Given the description of an element on the screen output the (x, y) to click on. 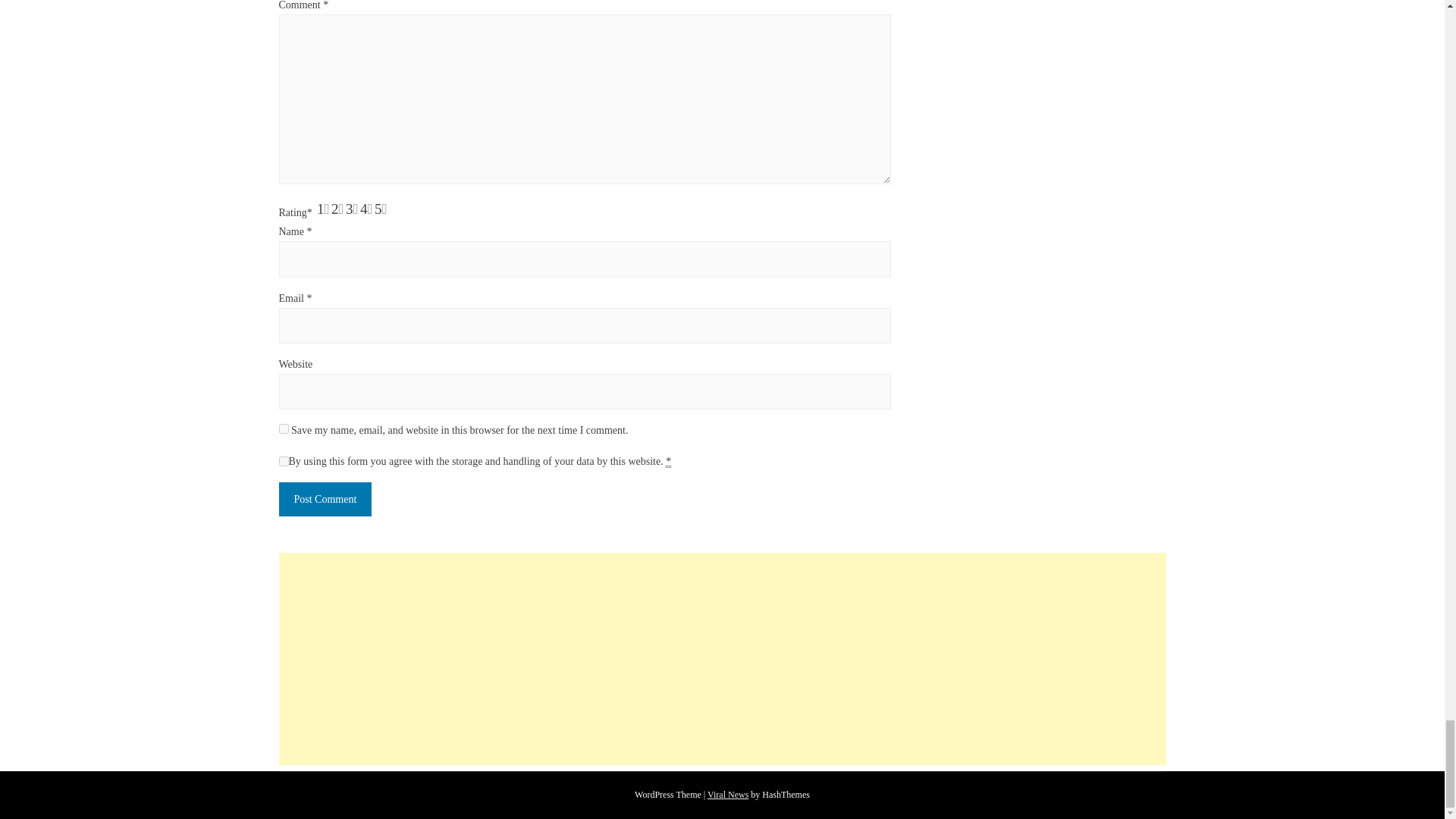
Post Comment (325, 499)
yes (283, 429)
Download Viral News (727, 794)
